Given the description of an element on the screen output the (x, y) to click on. 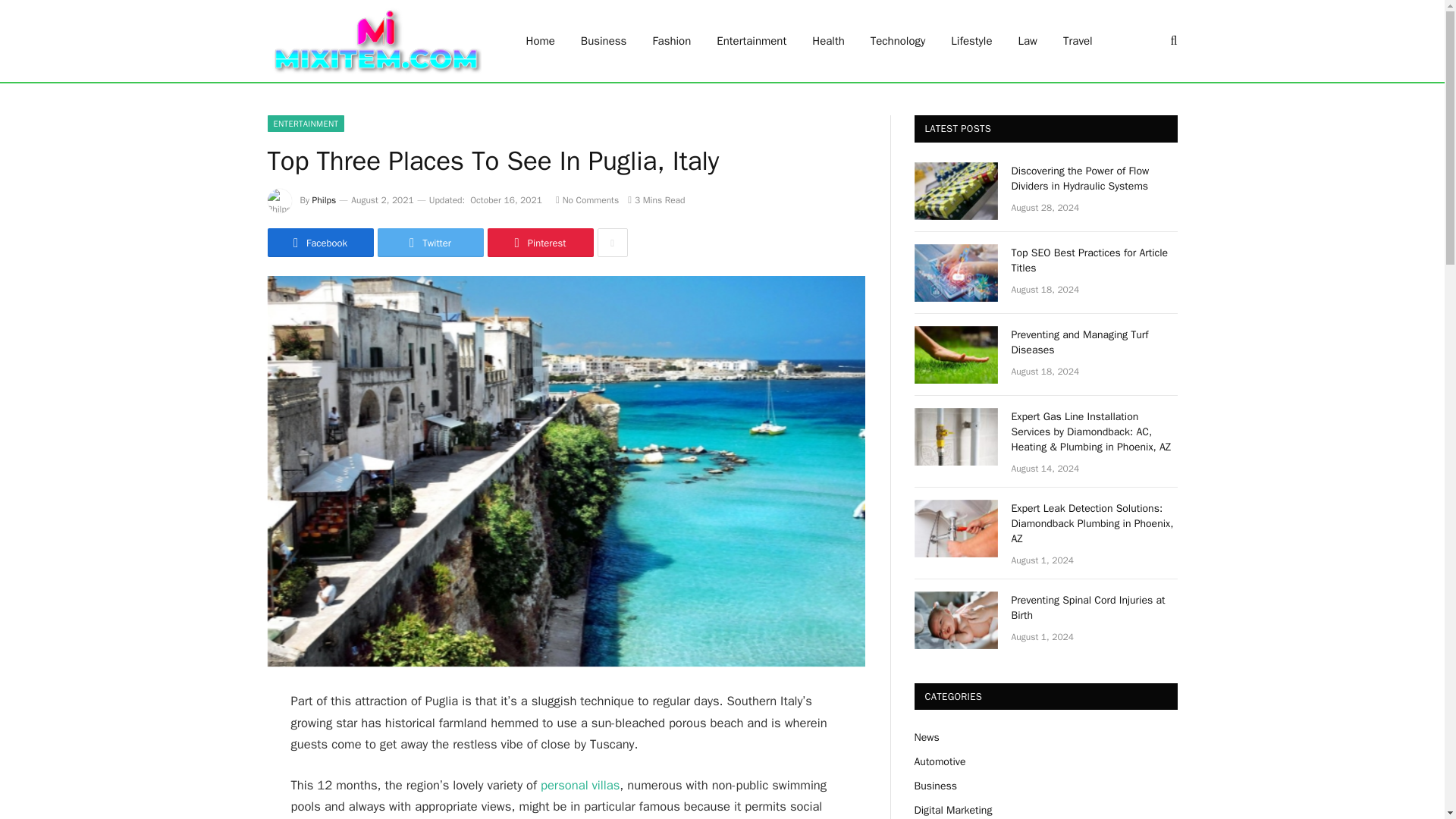
Show More Social Sharing (611, 242)
Entertainment (751, 40)
Technology (898, 40)
No Comments (587, 200)
Twitter (430, 242)
Facebook (319, 242)
Share on Pinterest (539, 242)
Philps (324, 200)
Share on Facebook (319, 242)
